Given the description of an element on the screen output the (x, y) to click on. 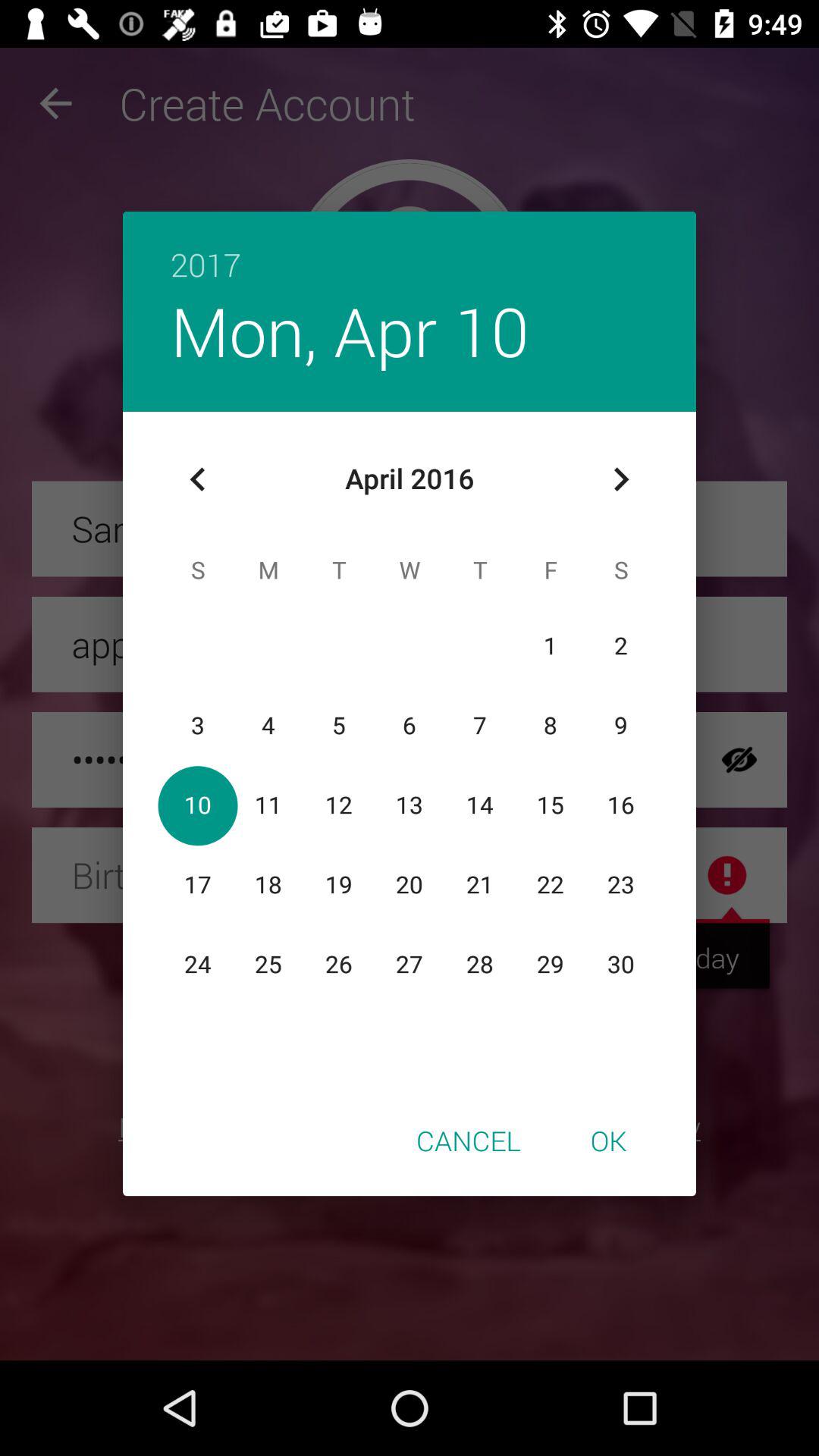
turn on icon at the top left corner (197, 479)
